Given the description of an element on the screen output the (x, y) to click on. 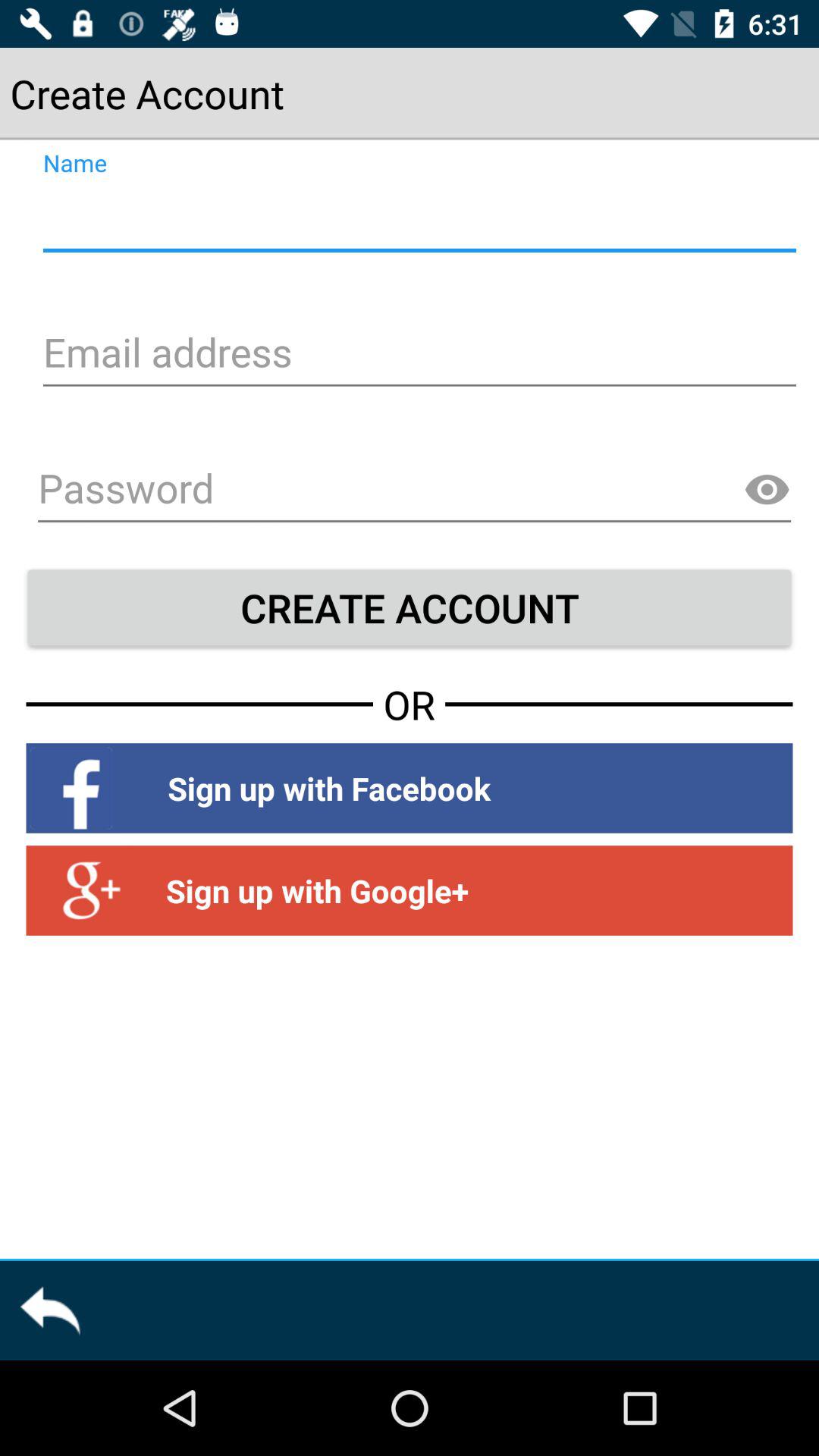
password space (414, 490)
